Given the description of an element on the screen output the (x, y) to click on. 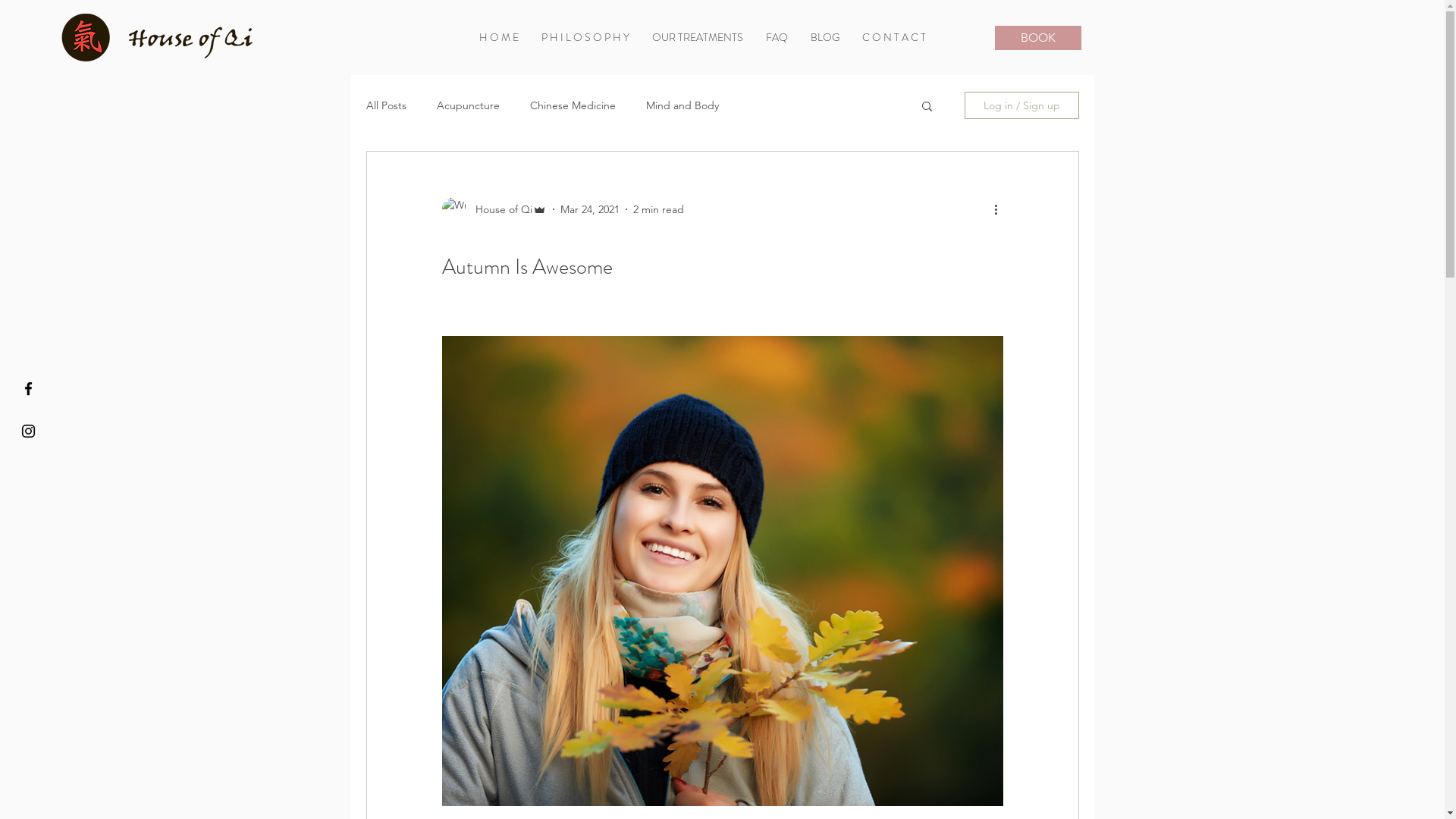
C O N T A C T Element type: text (893, 37)
OUR TREATMENTS Element type: text (697, 37)
All Posts Element type: text (385, 105)
Chinese Medicine Element type: text (572, 105)
Log in / Sign up Element type: text (1021, 105)
BOOK Element type: text (1037, 37)
H O M E Element type: text (498, 37)
BLOG Element type: text (824, 37)
Mind and Body Element type: text (682, 105)
Acupuncture Element type: text (467, 105)
P H I L O S O P H Y Element type: text (585, 37)
FAQ Element type: text (776, 37)
